Given the description of an element on the screen output the (x, y) to click on. 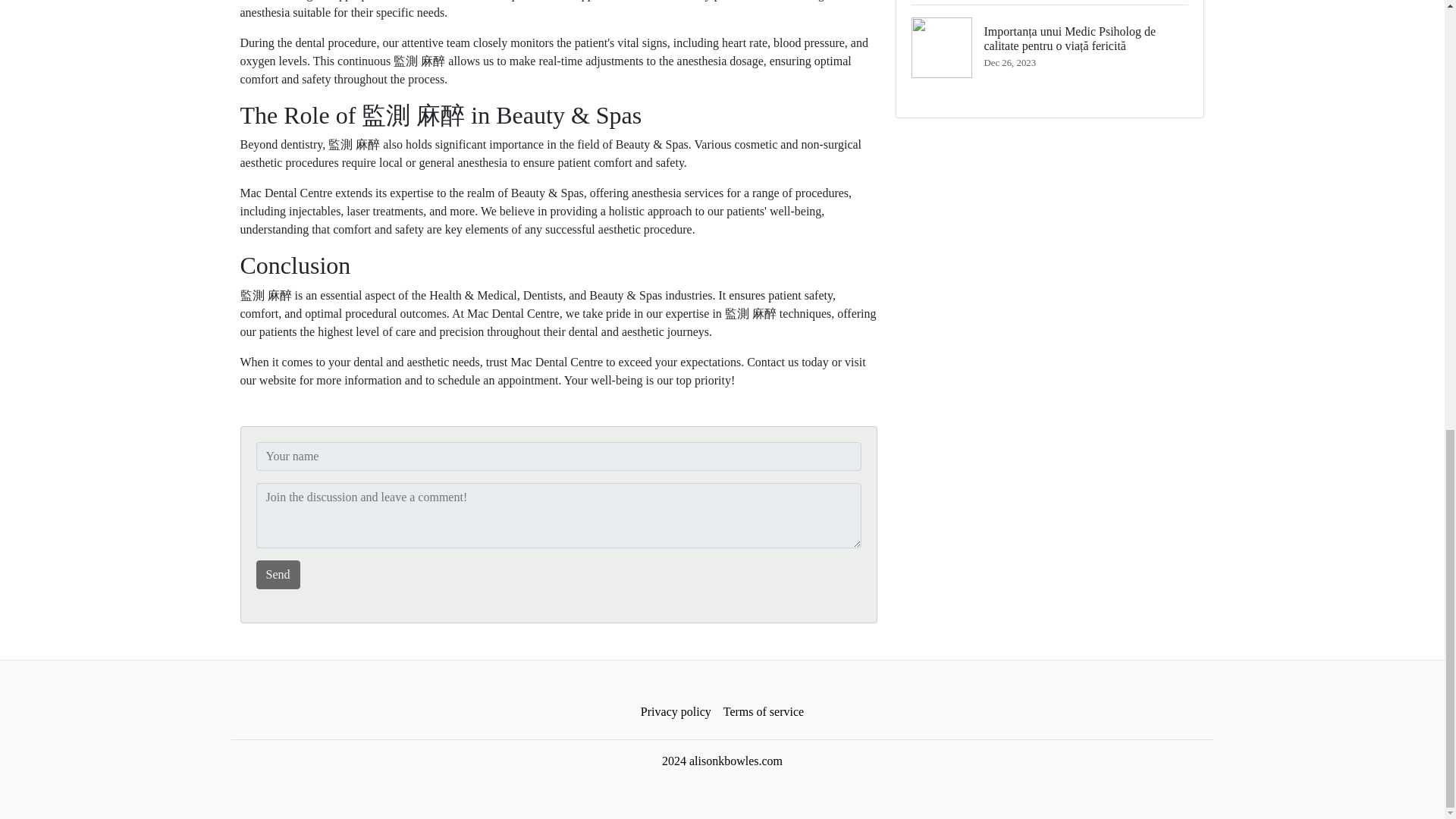
Terms of service (763, 711)
Send (277, 574)
Privacy policy (675, 711)
Send (277, 574)
